Given the description of an element on the screen output the (x, y) to click on. 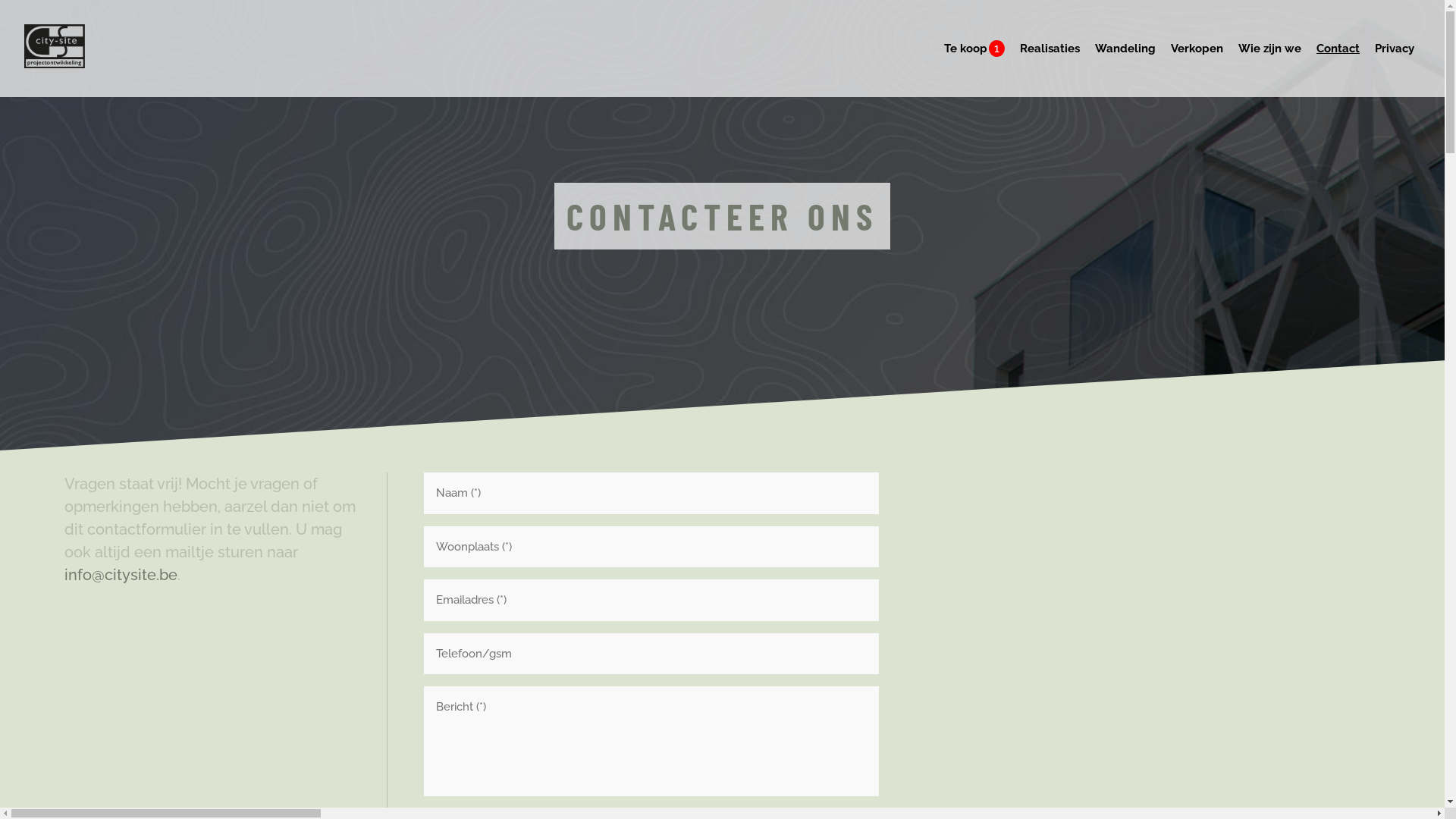
Verkopen Element type: text (1196, 48)
info@citysite.be Element type: text (119, 574)
Wie zijn we Element type: text (1269, 48)
Te koop 1 Element type: text (969, 48)
Wandeling Element type: text (1125, 48)
Contact Element type: text (1337, 48)
Privacy Element type: text (1394, 48)
Realisaties Element type: text (1049, 48)
Overslaan en naar de inhoud gaan Element type: text (0, 0)
